Given the description of an element on the screen output the (x, y) to click on. 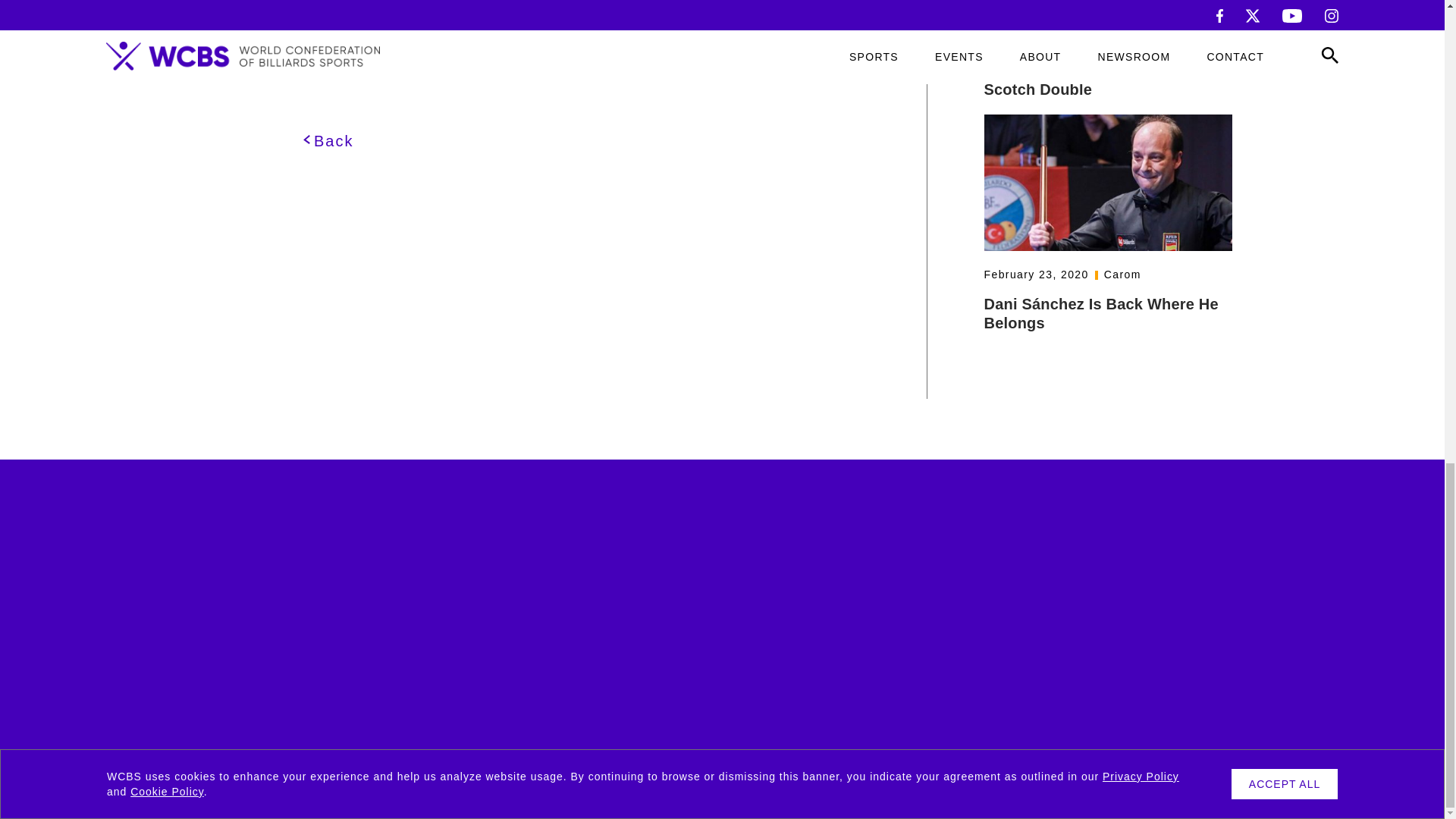
Back (327, 140)
